Given the description of an element on the screen output the (x, y) to click on. 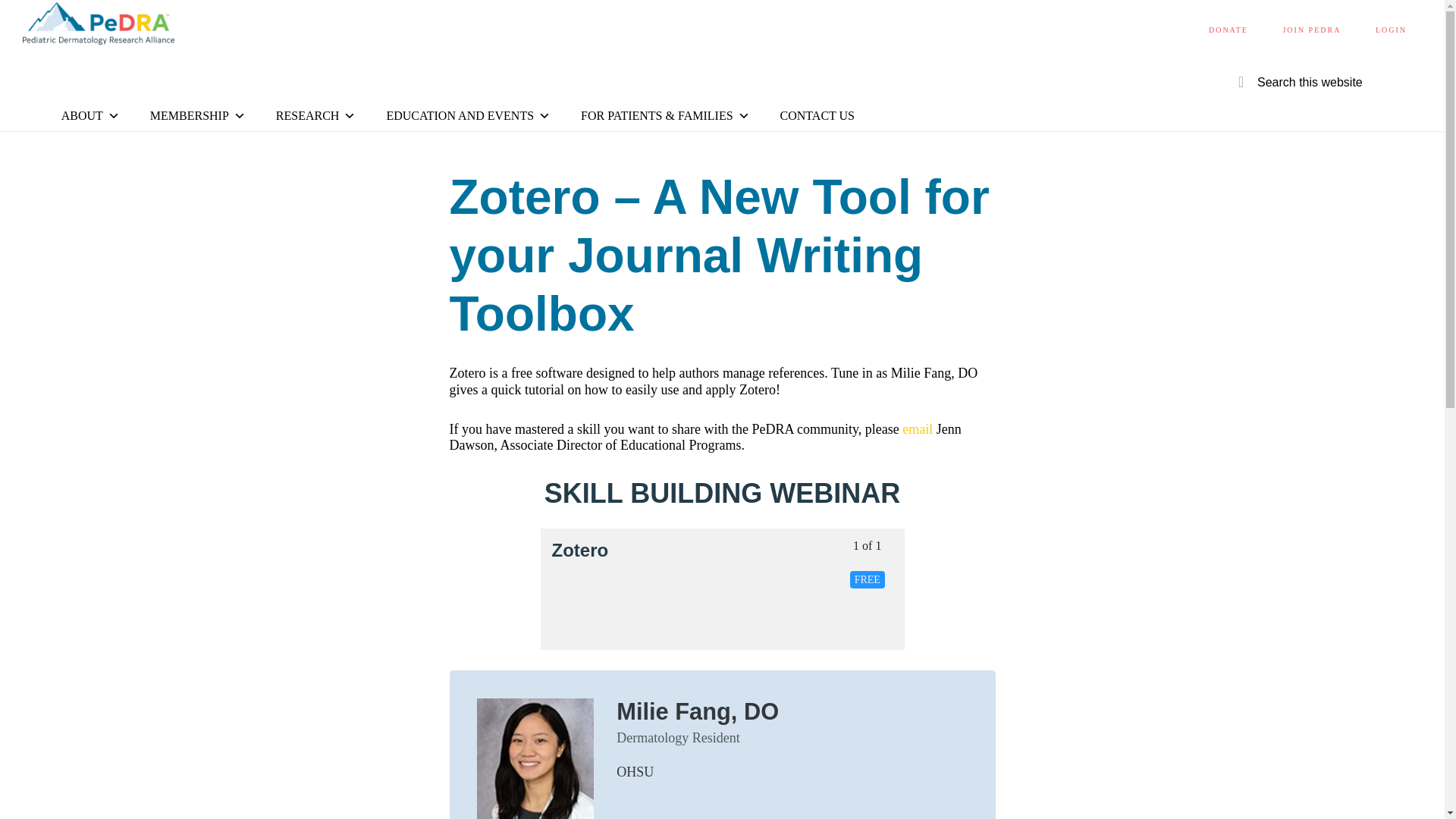
PEDRA (98, 26)
LOGIN (1390, 30)
DONATE (1228, 30)
RESEARCH (315, 115)
EDUCATION AND EVENTS (467, 115)
CONTACT US (817, 115)
JOIN PEDRA (1310, 30)
